Given the description of an element on the screen output the (x, y) to click on. 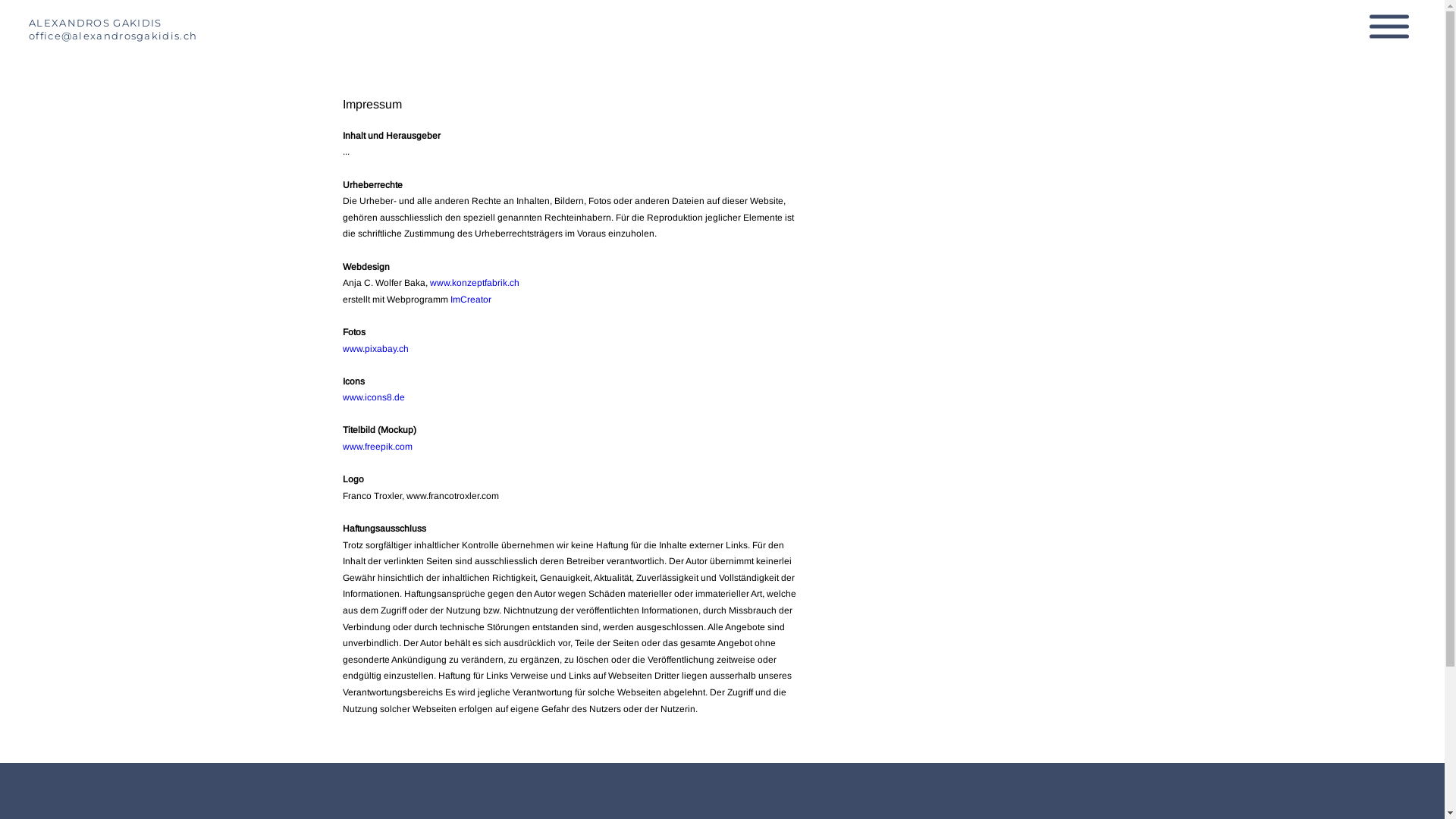
www.konzeptfabrik.ch Element type: text (474, 282)
ImCreator Element type: text (470, 299)
www.freepik.com Element type: text (377, 446)
www.icons8.de Element type: text (373, 397)
www.pixabay.ch Element type: text (375, 348)
ALEXANDROS GAKIDIS
office@alexandrosgakidis.ch Element type: text (112, 36)
